Given the description of an element on the screen output the (x, y) to click on. 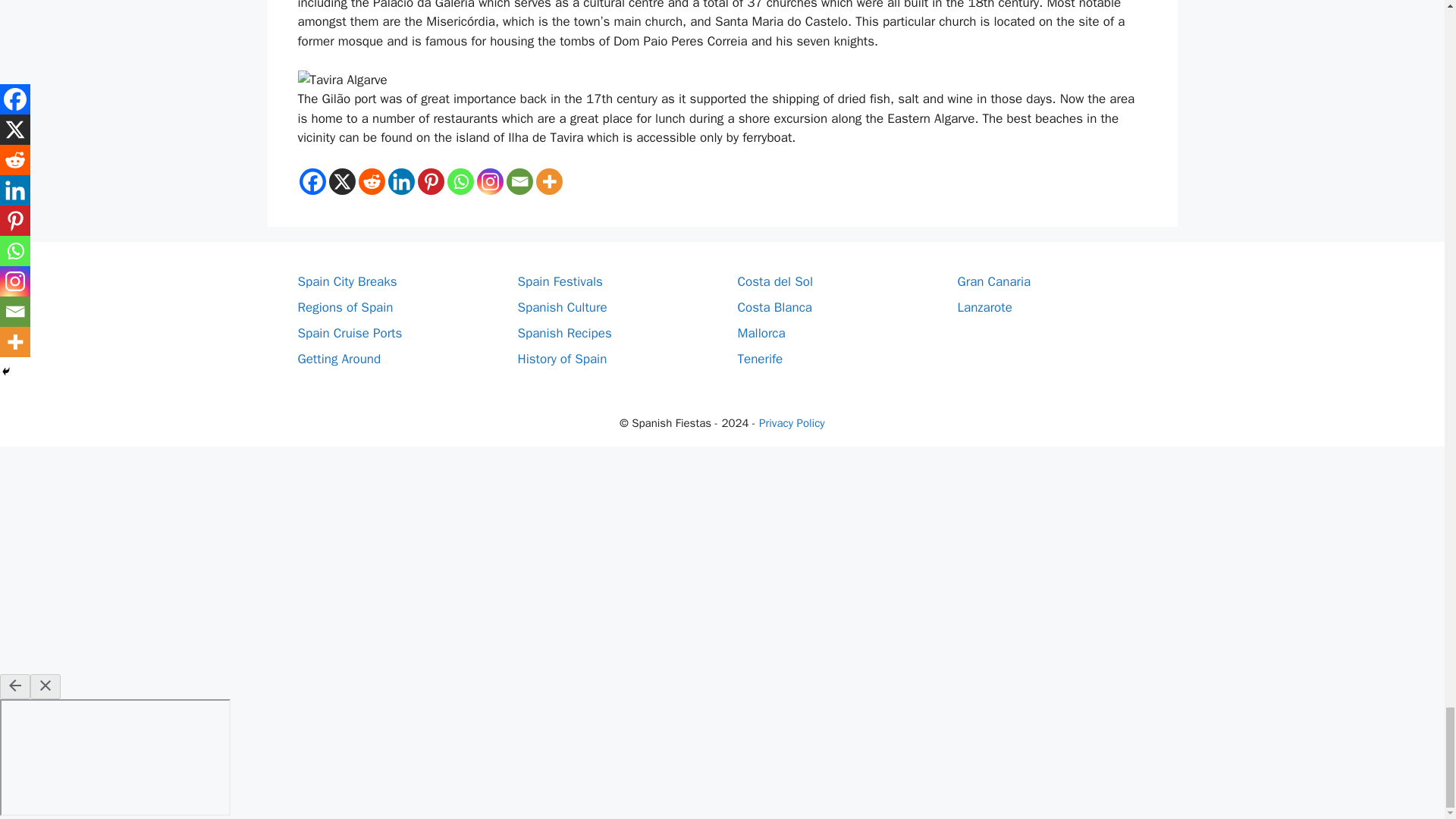
Linkedin (401, 181)
Reddit (371, 181)
Whatsapp (460, 181)
Facebook (311, 181)
Pinterest (430, 181)
X (342, 181)
